Given the description of an element on the screen output the (x, y) to click on. 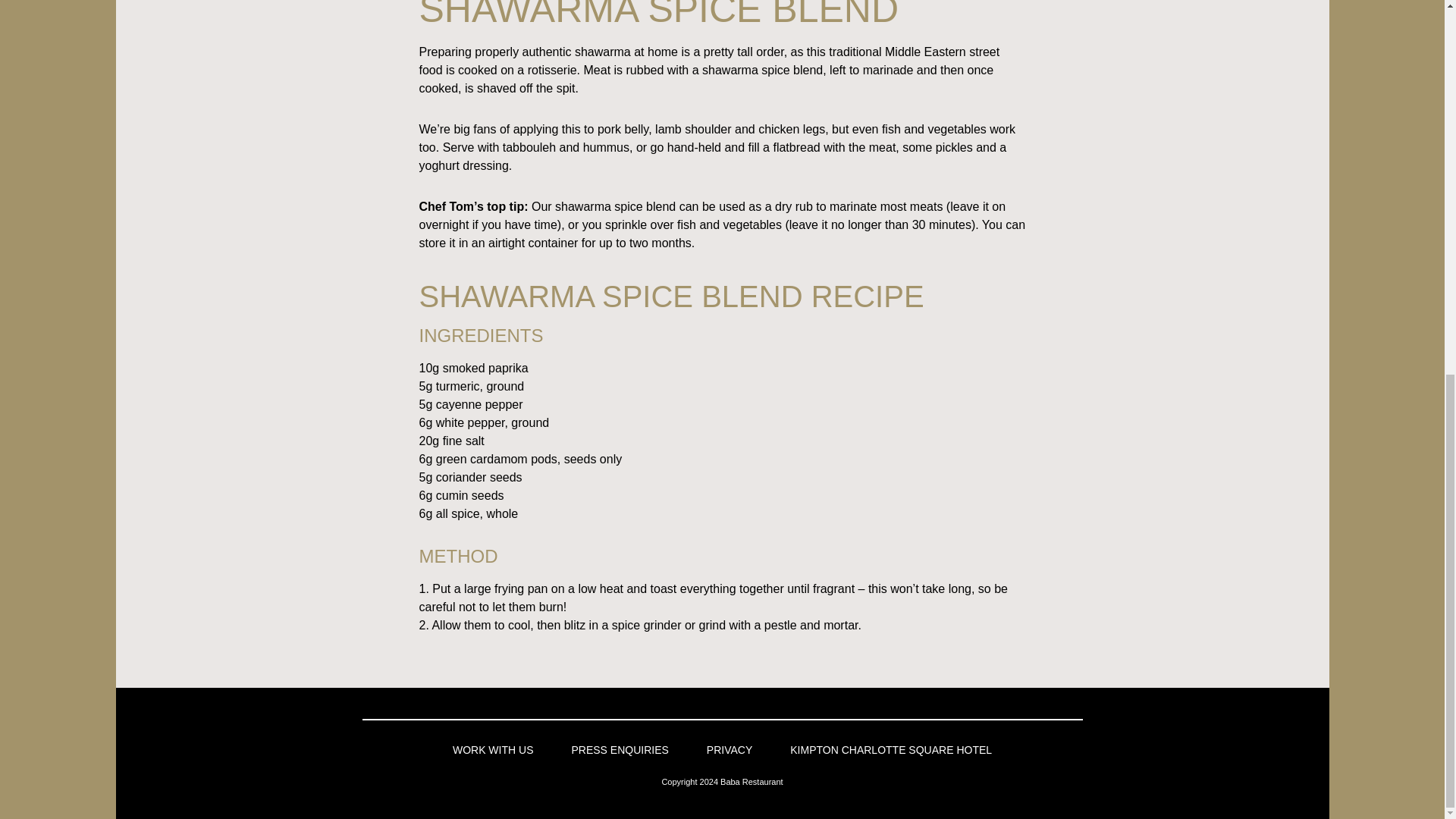
PRESS ENQUIRIES (619, 749)
WORK WITH US (493, 749)
PRIVACY (729, 749)
KIMPTON CHARLOTTE SQUARE HOTEL (890, 749)
